Given the description of an element on the screen output the (x, y) to click on. 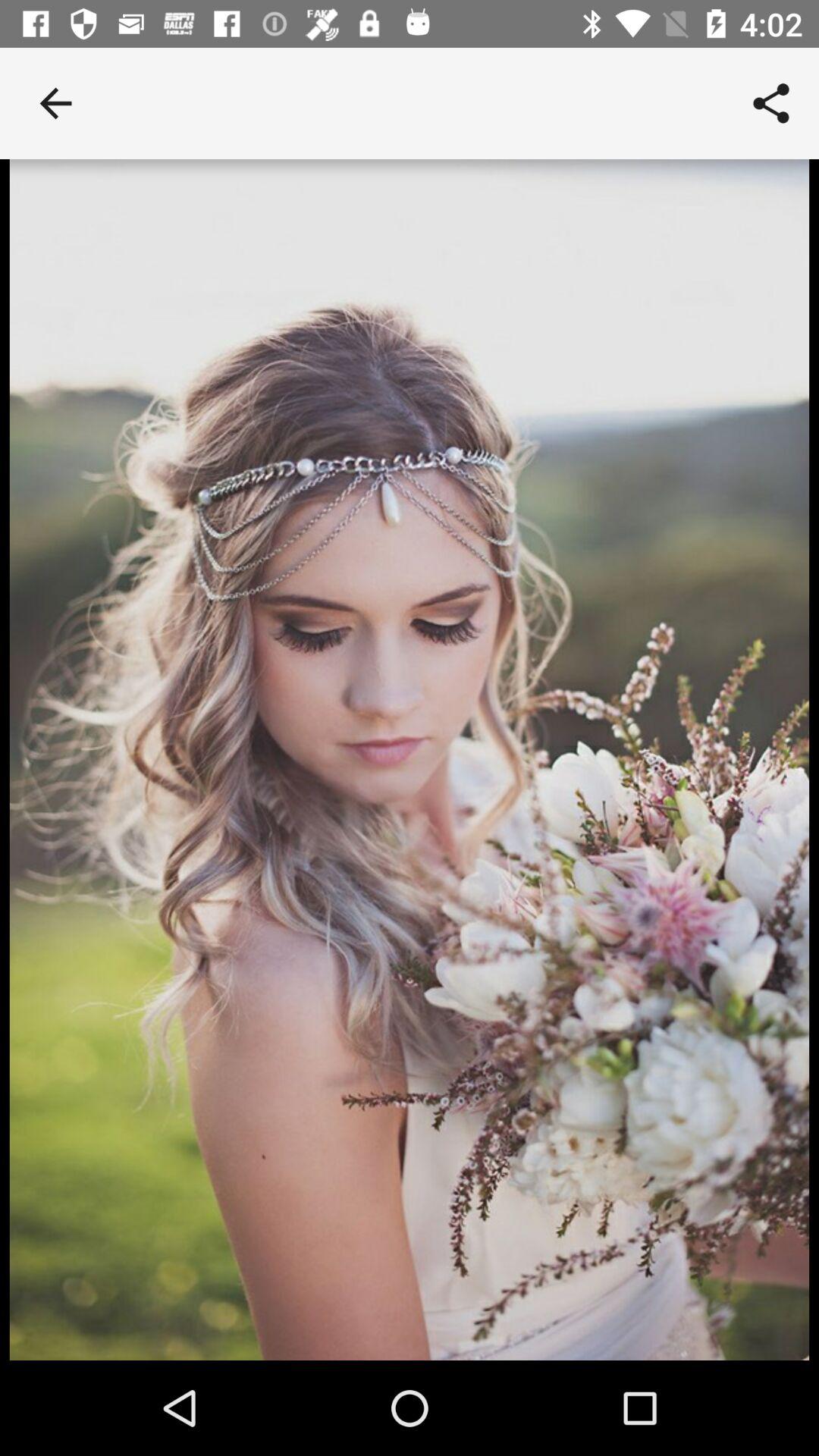
turn off the item at the top right corner (771, 103)
